Given the description of an element on the screen output the (x, y) to click on. 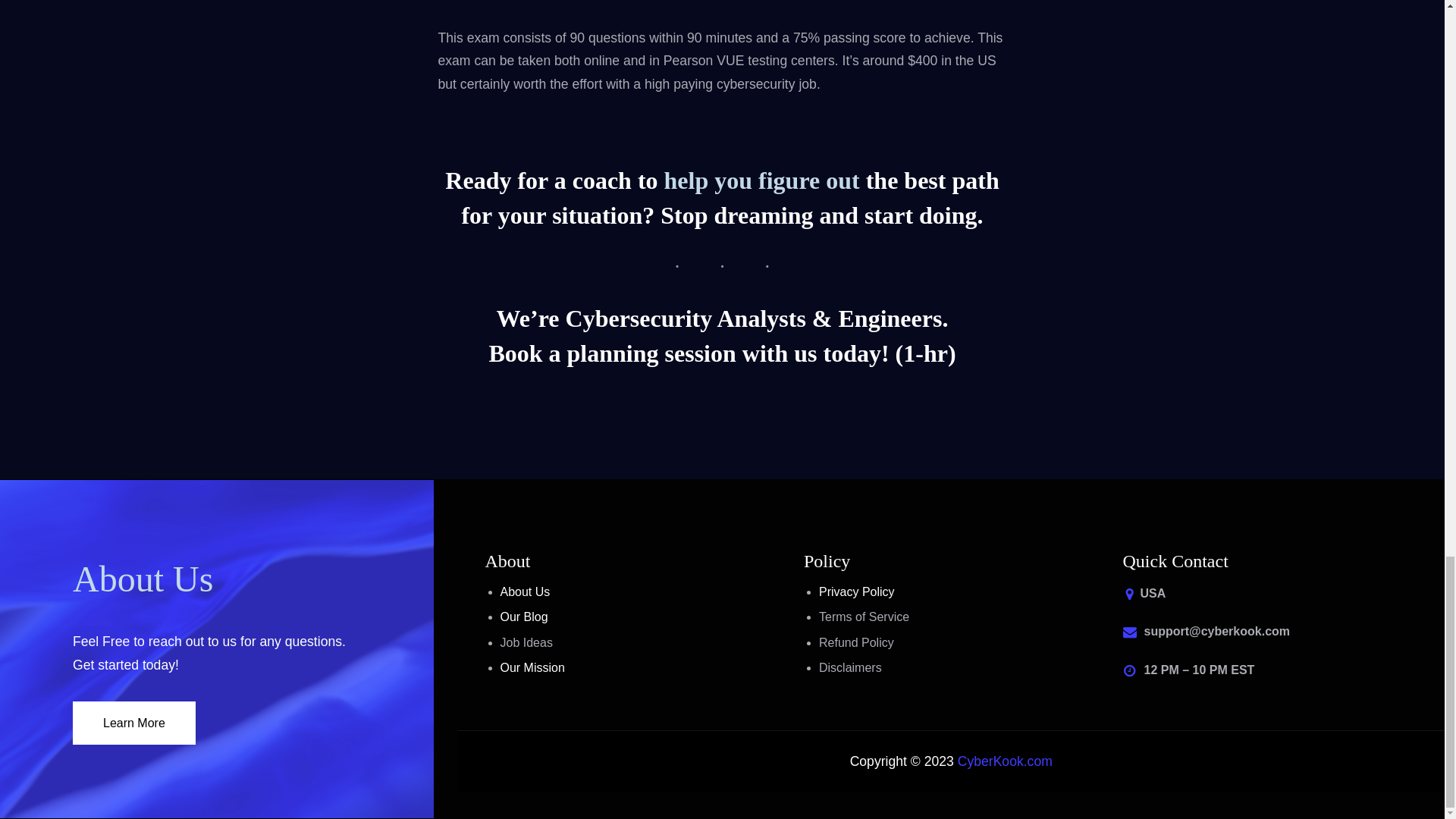
Learn More (133, 722)
CyberKook.com (1005, 761)
About Us (525, 591)
help you figure out (761, 182)
Privacy Policy (856, 591)
Our Mission (532, 667)
Our Blog (524, 616)
About Us (142, 580)
